Given the description of an element on the screen output the (x, y) to click on. 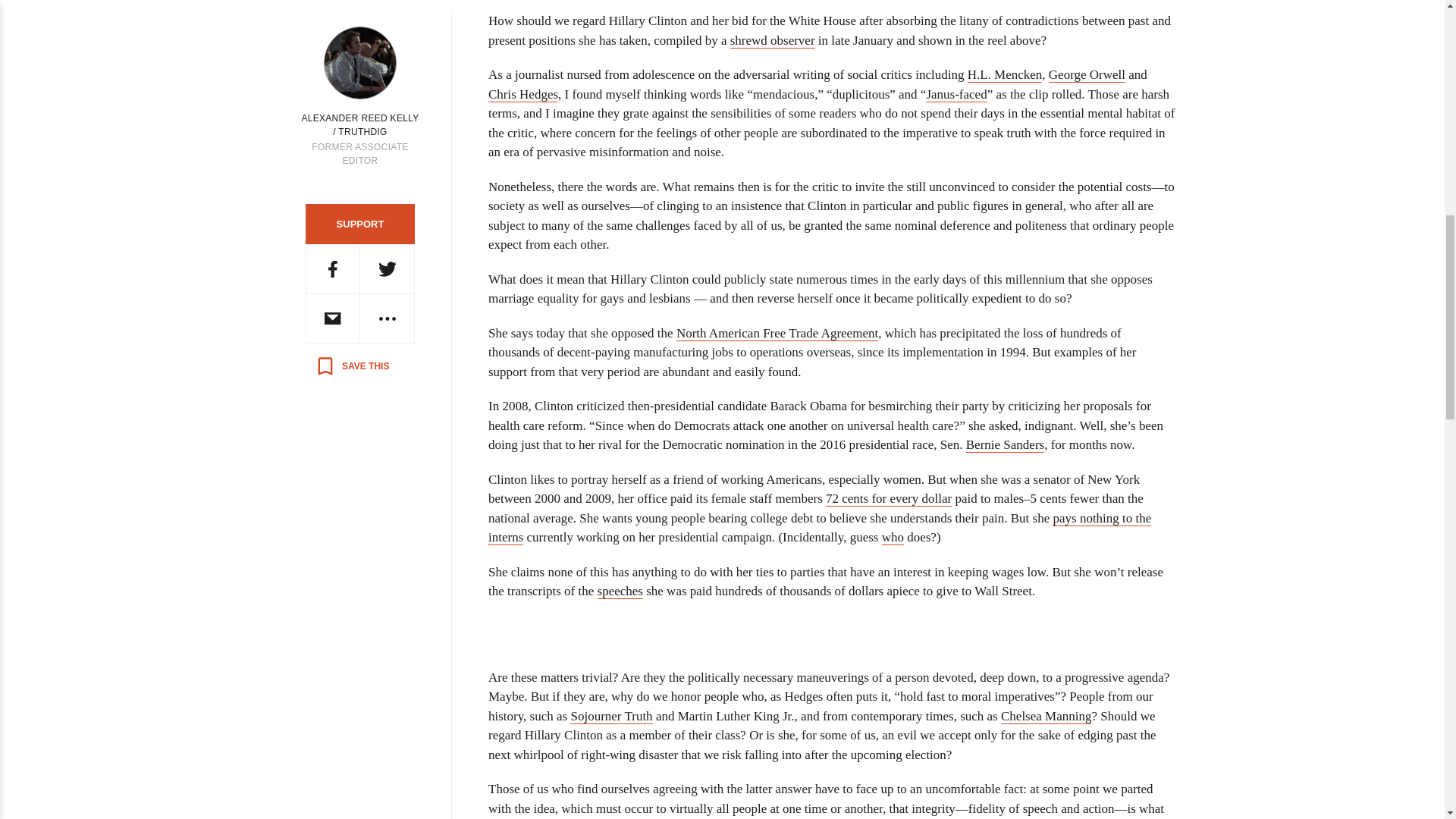
72 cents for every dollar (888, 498)
pays nothing to the interns (819, 528)
speeches (619, 590)
who (893, 537)
Save to read later (351, 366)
Bernie Sanders (1004, 444)
shrewd observer (772, 40)
